Given the description of an element on the screen output the (x, y) to click on. 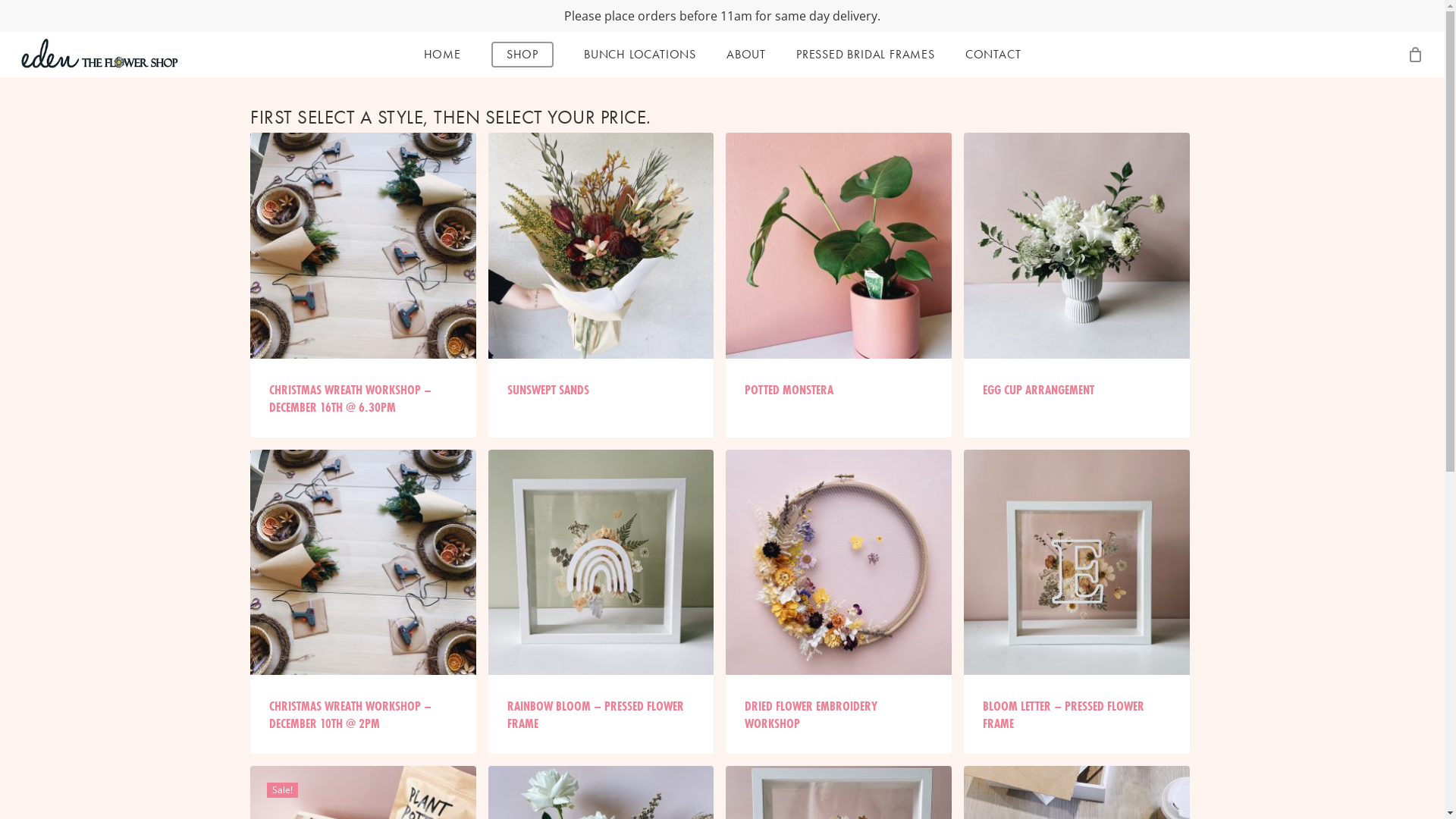
HOME Element type: text (442, 54)
ABOUT Element type: text (745, 54)
About Us Element type: text (1258, 615)
Aimee + Jack Sneak Peek Element type: text (543, 645)
pinterest Element type: text (1360, 793)
instagram Element type: text (1389, 793)
EGG CUP ARRANGEMENT Element type: text (1076, 388)
Sam + Joel Element type: text (543, 671)
Crown of Eden Element type: text (901, 615)
Weddings Element type: text (1258, 564)
SUNSWEPT SANDS Element type: text (601, 388)
BUNCH LOCATIONS Element type: text (639, 54)
DRIED FLOWER EMBROIDERY WORKSHOP Element type: text (838, 714)
Tiarni + Ben Element type: text (543, 697)
facebook Element type: text (1334, 793)
Send Flowers Element type: text (901, 564)
CONTACT Element type: text (993, 54)
PRESSED BRIDAL FRAMES Element type: text (865, 54)
SHOP Element type: text (522, 54)
POTTED MONSTERA Element type: text (838, 388)
Karleigh + Danny Sneak Peek Element type: text (543, 620)
Bunch Locations for Pickup Element type: text (1258, 589)
King Tide Media Element type: text (269, 795)
Flower Crown Classes Element type: text (901, 589)
Karleigh + Danny Element type: text (543, 594)
